Given the description of an element on the screen output the (x, y) to click on. 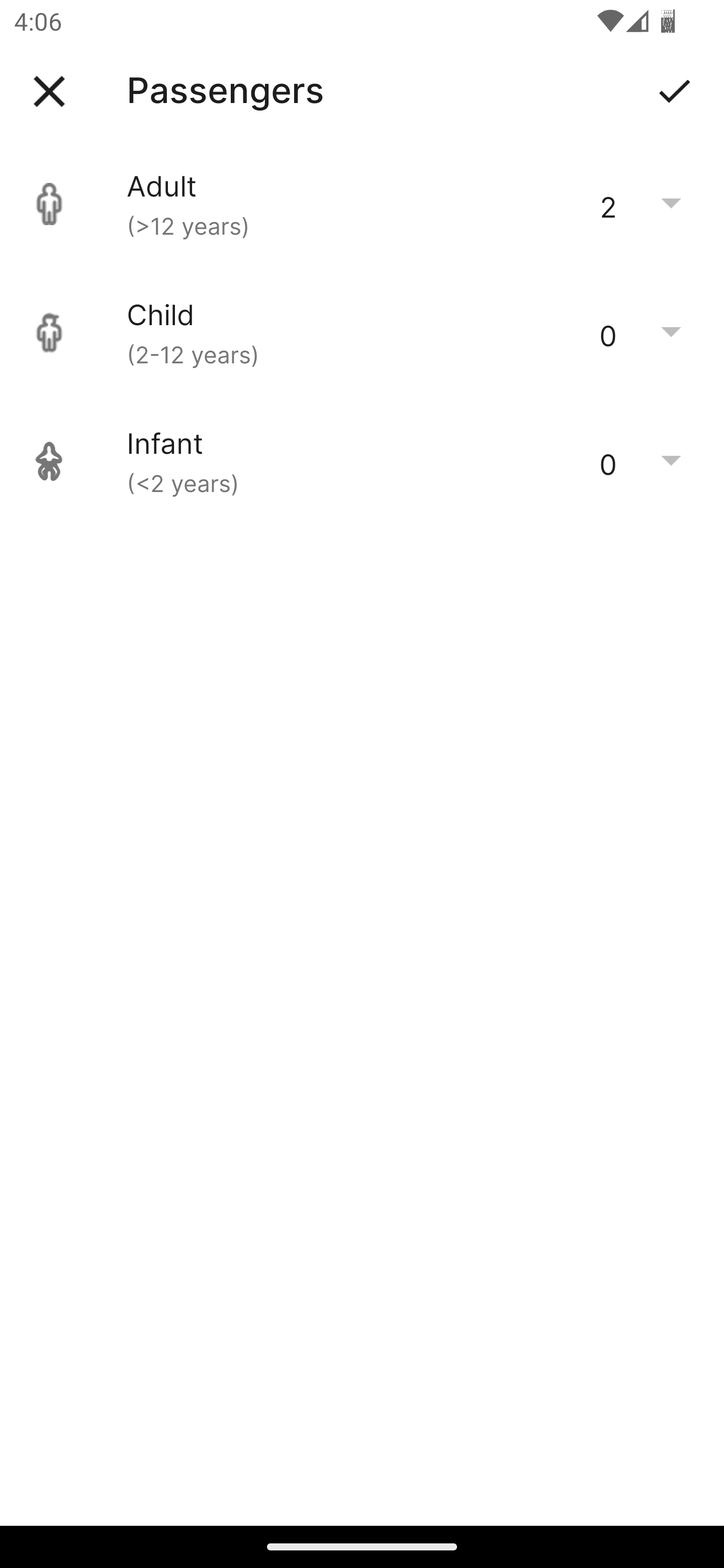
Adult (>12 years) 2 (362, 204)
Child (2-12 years) 0 (362, 332)
Infant (<2 years) 0 (362, 461)
